Given the description of an element on the screen output the (x, y) to click on. 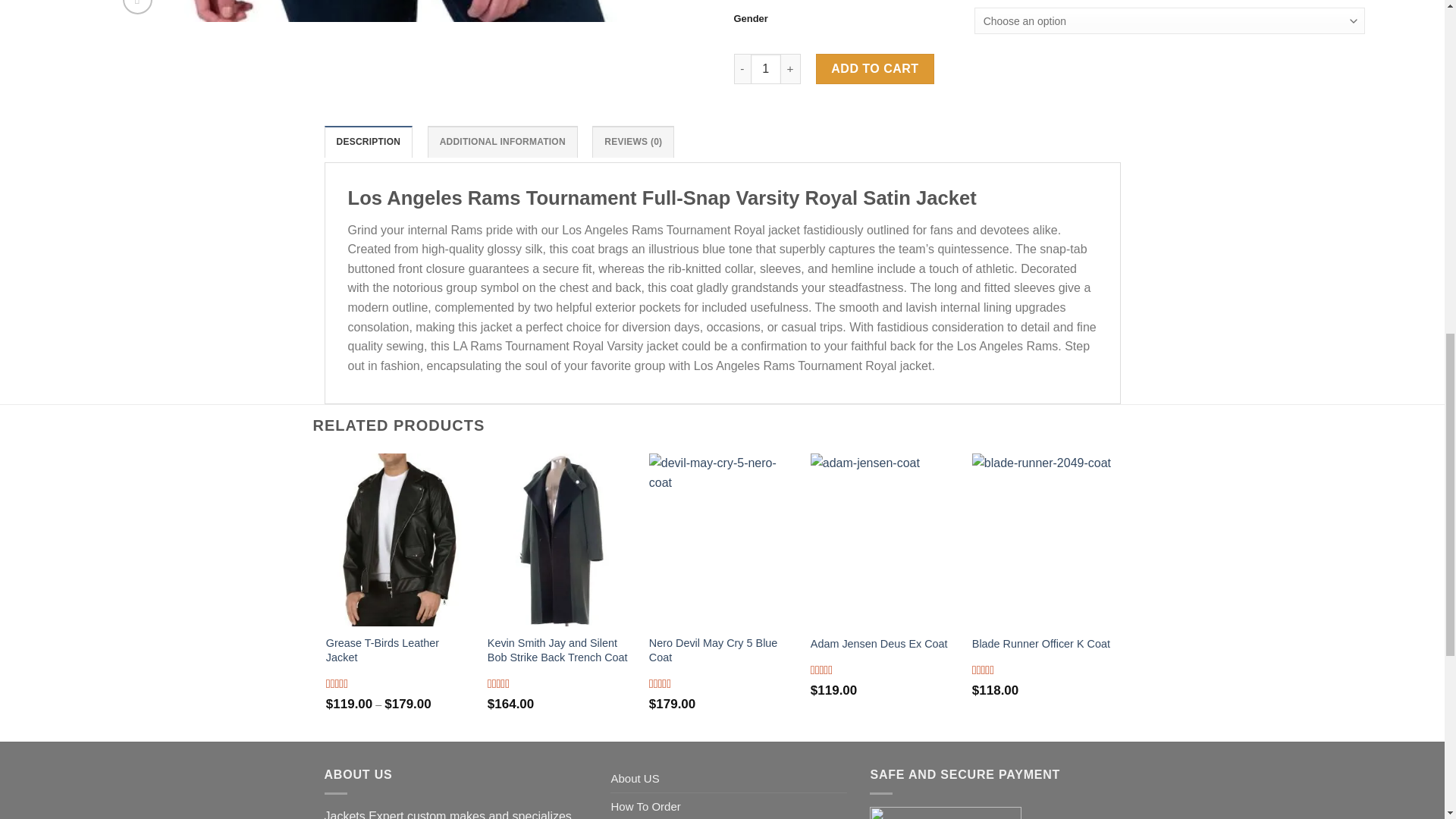
1 (765, 69)
la-rams-tournament-royal-varsity-jacket (980, 11)
Zoom (137, 7)
Qty (765, 69)
los-angeles-rams-tournament-royal-jacket (402, 11)
